Given the description of an element on the screen output the (x, y) to click on. 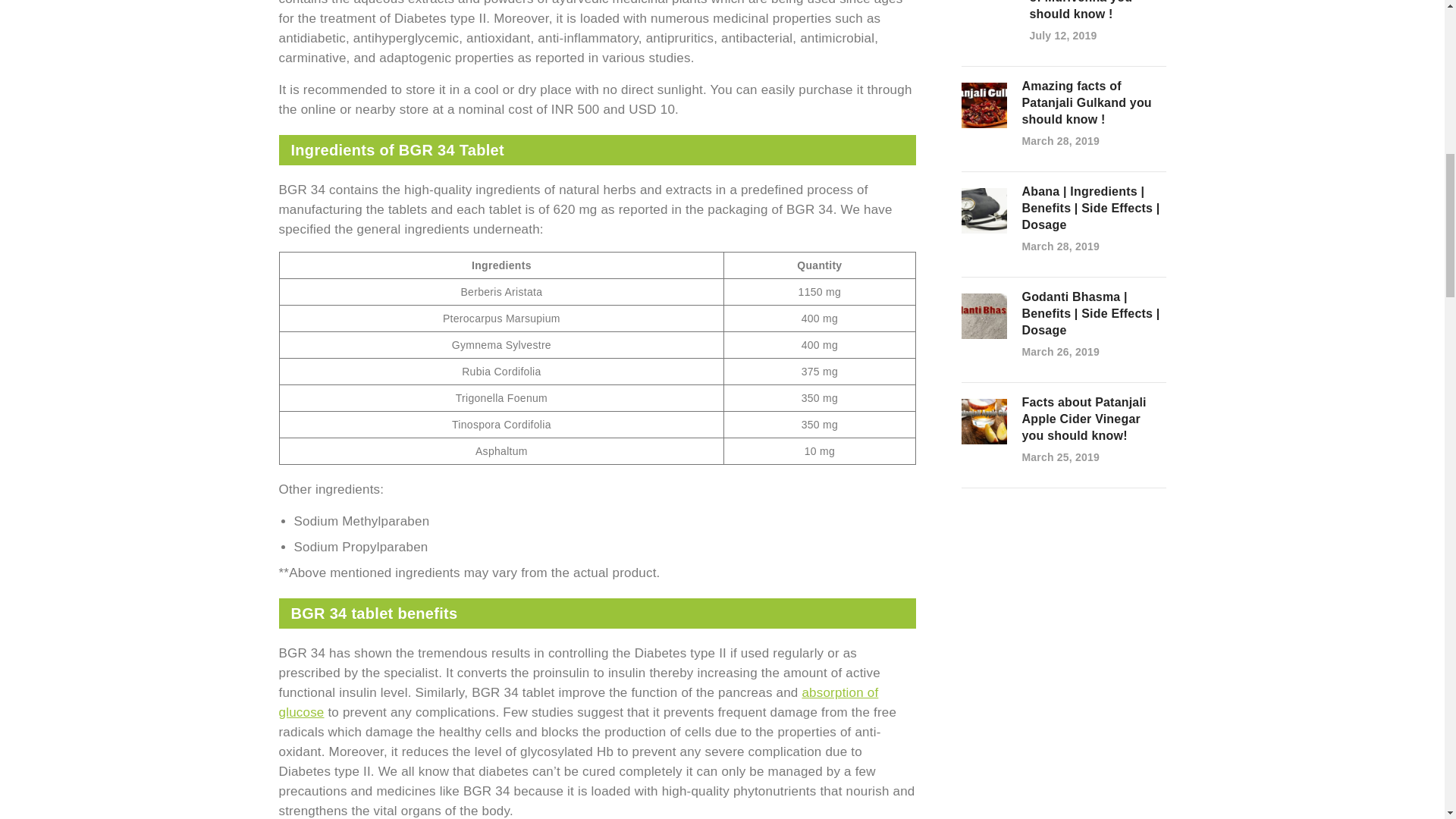
Amazing facts of Patanjali Gulkand you should know ! (1094, 102)
absorption of glucose (579, 702)
Astonishing facts of Murivenna you should know ! (1097, 11)
